Given the description of an element on the screen output the (x, y) to click on. 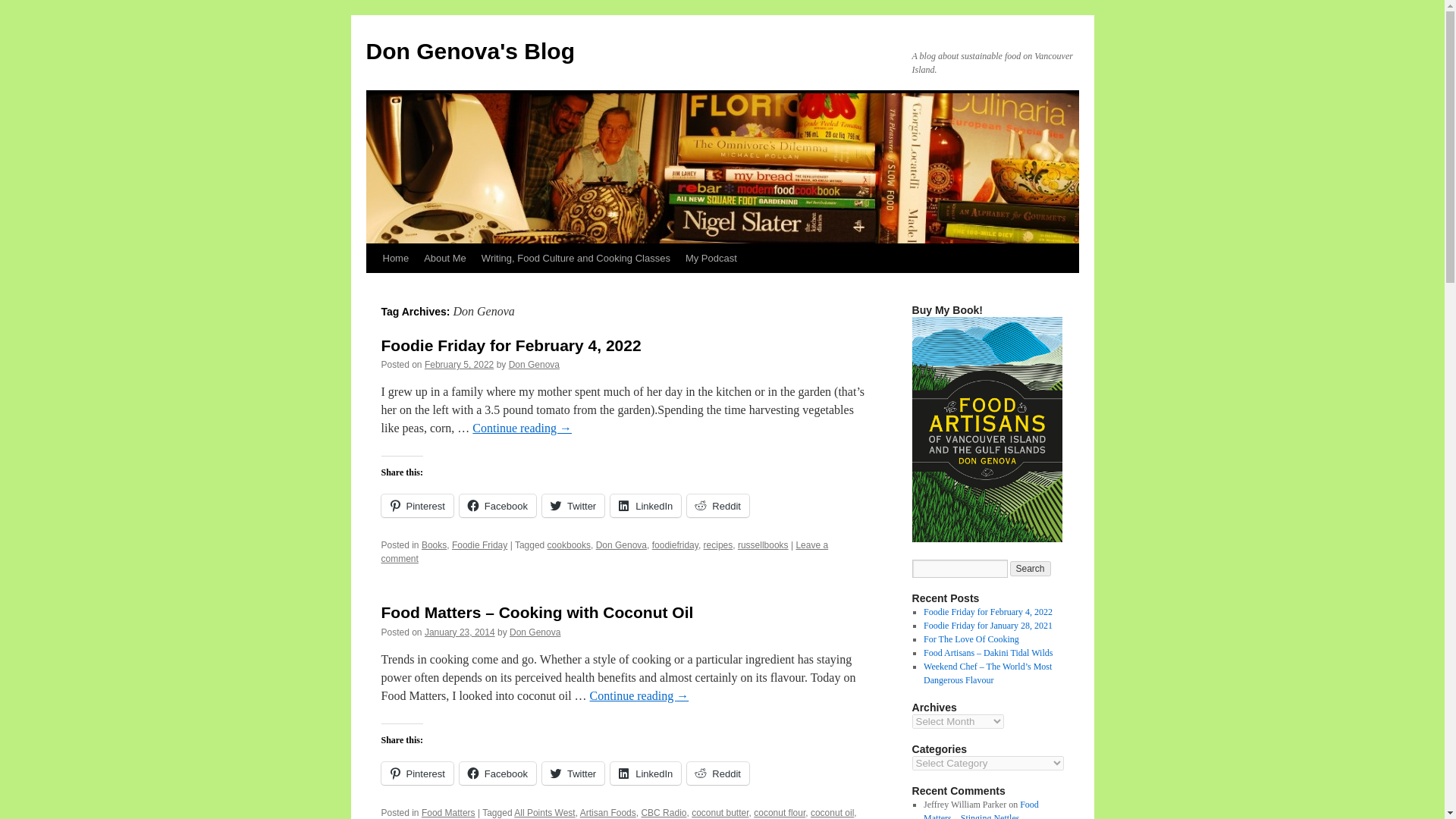
LinkedIn (645, 773)
coconut oil (831, 812)
Don Genova (620, 544)
Click to share on Twitter (572, 773)
Search (1030, 568)
Click to share on Twitter (572, 505)
LinkedIn (645, 505)
Don Genova (534, 632)
Twitter (572, 773)
Click to share on Facebook (497, 505)
Reddit (718, 505)
recipes (718, 544)
Click to share on Pinterest (416, 773)
russellbooks (763, 544)
Don Genova's Blog (470, 50)
